Given the description of an element on the screen output the (x, y) to click on. 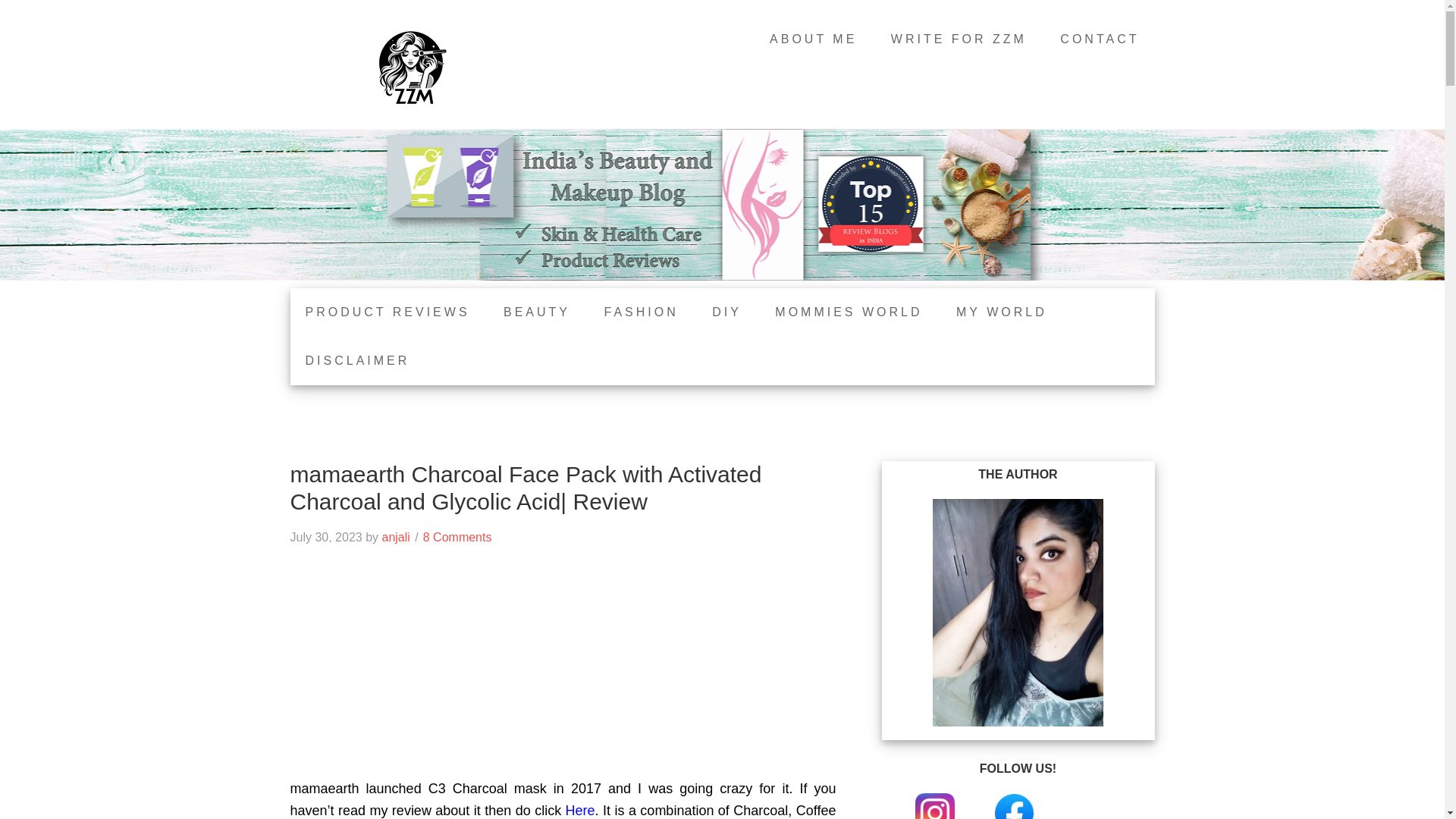
8 Comments (457, 536)
ABOUT ME (813, 39)
BEAUTY (536, 312)
anjali (395, 536)
CONTACT (1099, 39)
Advertisement (562, 671)
MOMMIES WORLD (848, 312)
Here (580, 810)
WRITE FOR ZZM (959, 39)
MY WORLD (1001, 312)
